Given the description of an element on the screen output the (x, y) to click on. 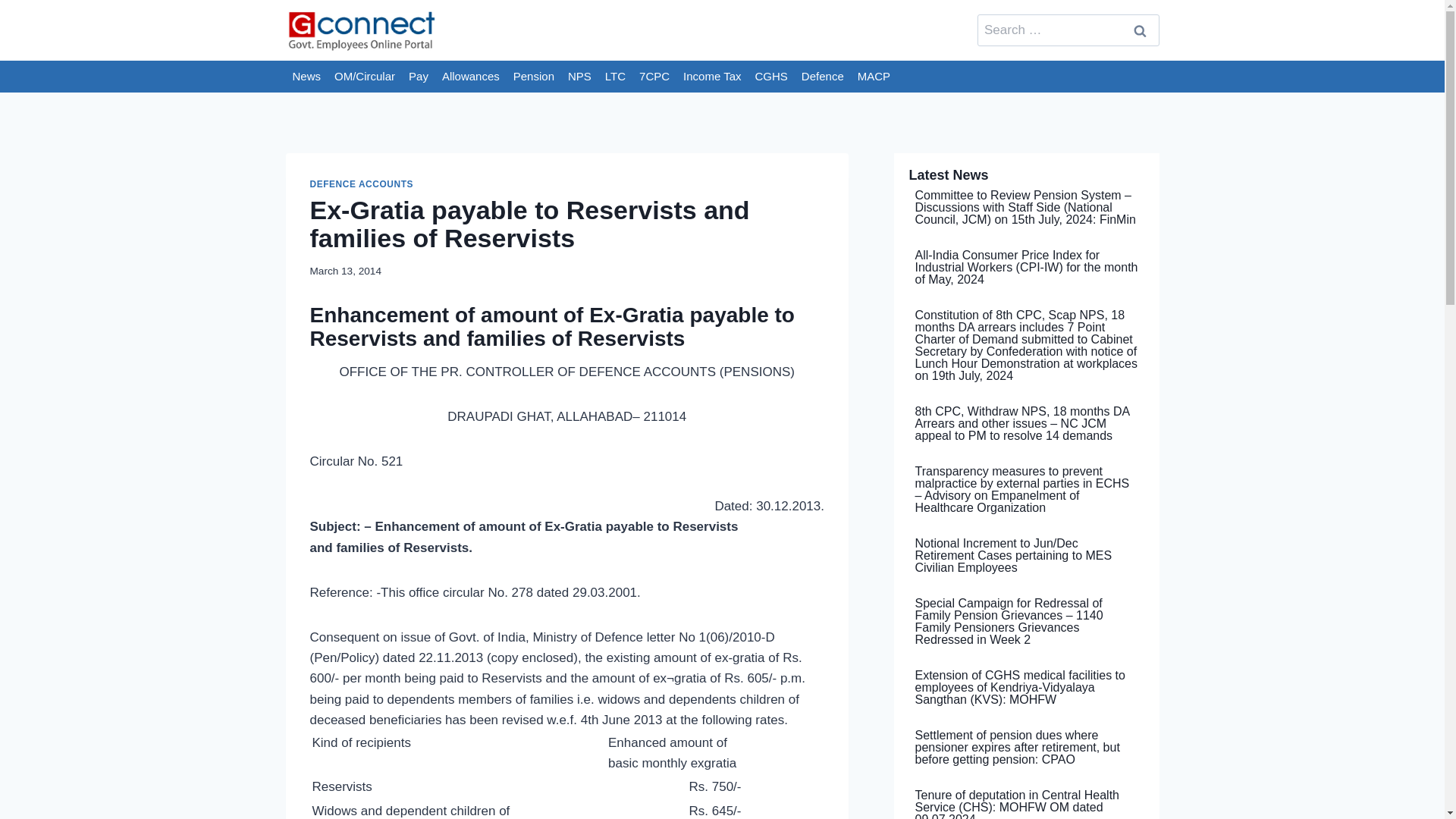
Basic Pay for Central Government Employees (418, 76)
CGHS (771, 76)
Leave Travel Concession to Central Government Employees (614, 76)
Search (1139, 30)
7CPC (654, 76)
MACP (873, 76)
Income Tax (712, 76)
Allowances (470, 76)
Search (1139, 30)
Pension (533, 76)
NPS (579, 76)
Pay (418, 76)
